Given the description of an element on the screen output the (x, y) to click on. 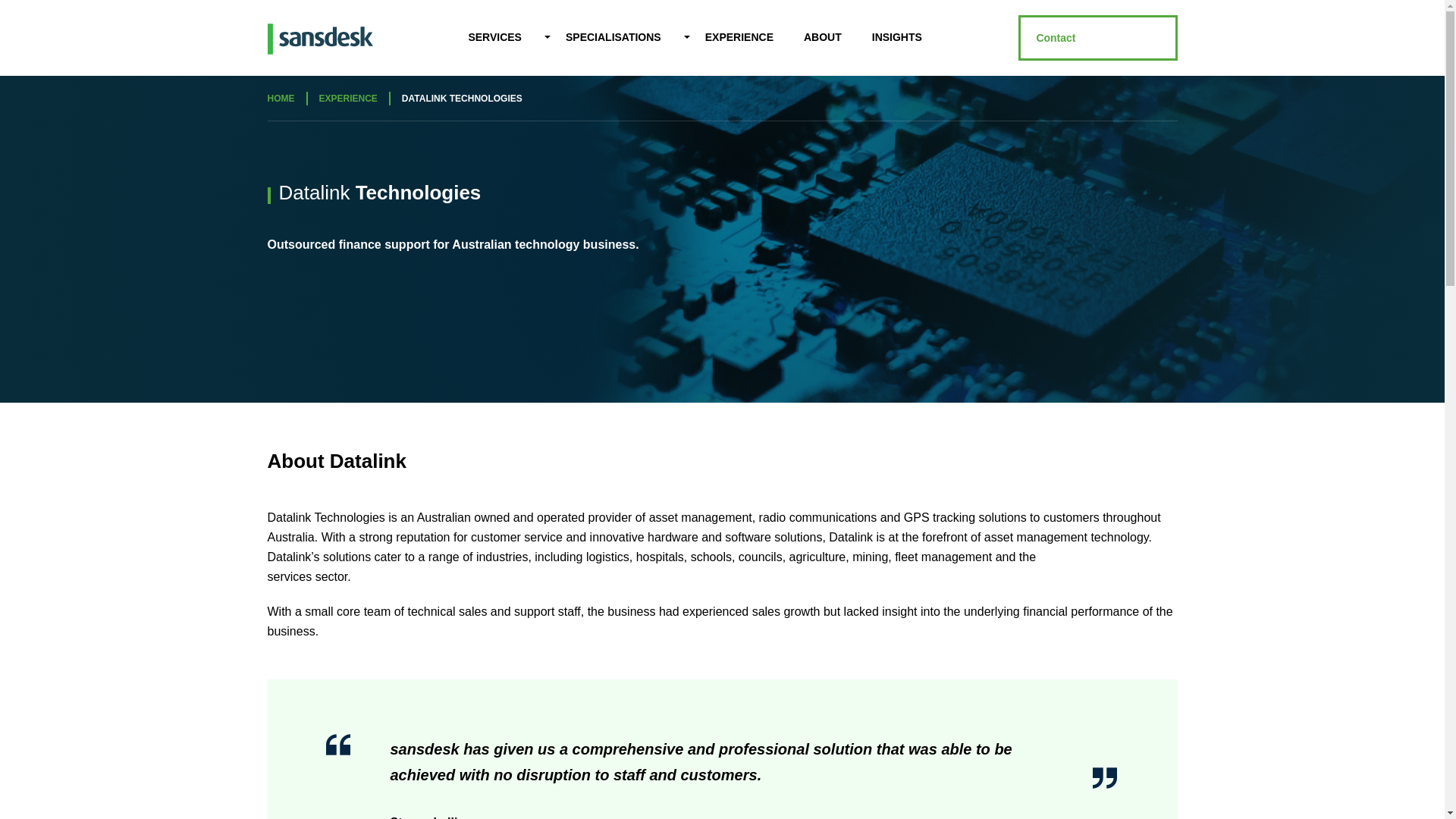
Contact (1096, 37)
ABOUT (823, 37)
EXPERIENCE (347, 98)
HOME (280, 98)
Home (280, 98)
INSIGHTS (897, 37)
SPECIALISATIONS (613, 37)
Sansdesk Advisors (319, 51)
SERVICES (494, 37)
Experience (347, 98)
EXPERIENCE (739, 37)
